Given the description of an element on the screen output the (x, y) to click on. 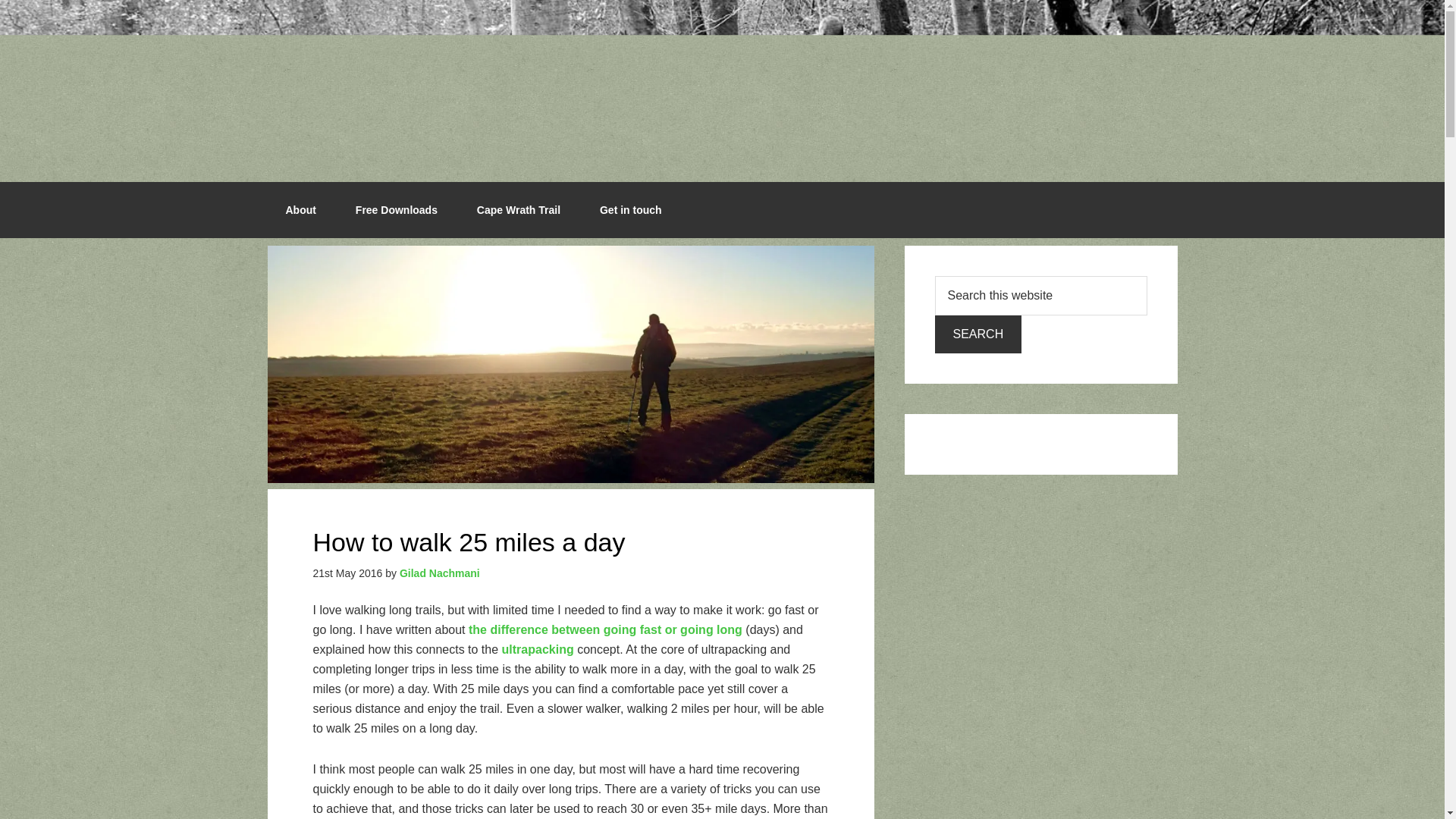
the difference between going fast or going long (605, 629)
Search (978, 333)
Get in touch (629, 209)
Outdoors Father (721, 82)
Gilad Nachmani (439, 573)
Cape Wrath Trail (518, 209)
ultrapacking (540, 649)
Search (978, 333)
Free Downloads (396, 209)
About (299, 209)
